Given the description of an element on the screen output the (x, y) to click on. 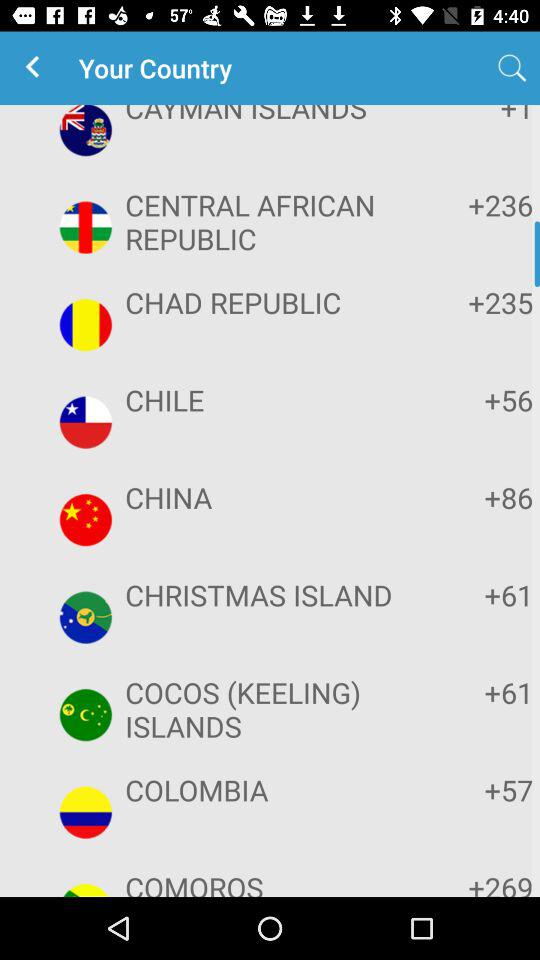
press the app above the central african republic (267, 115)
